Given the description of an element on the screen output the (x, y) to click on. 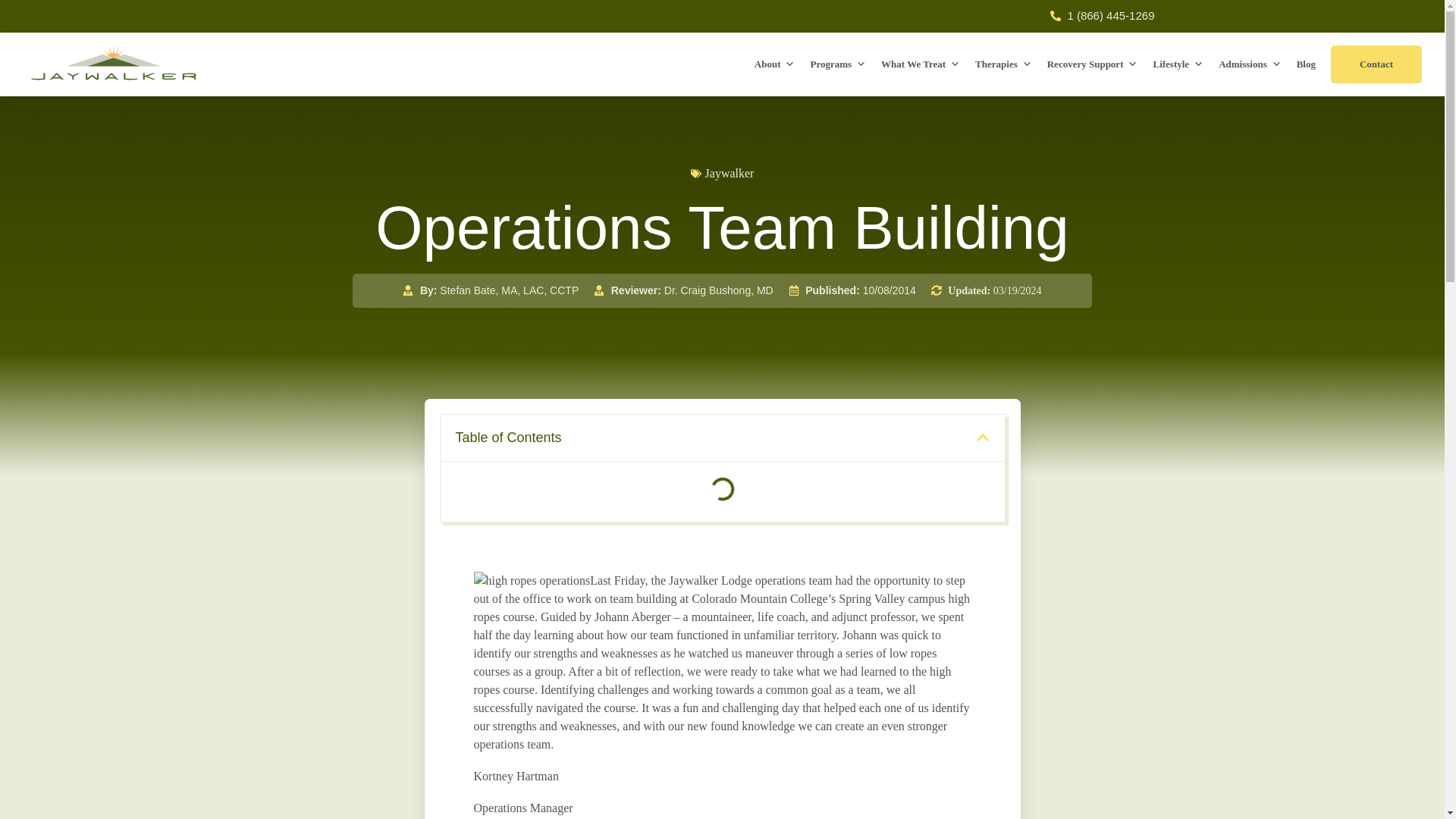
Jaywalker - Mens Drug Rehab in Colorado - Jaywalker (114, 63)
What We Treat (920, 64)
About (774, 64)
 - Jaywalker (531, 580)
Programs (837, 64)
